Given the description of an element on the screen output the (x, y) to click on. 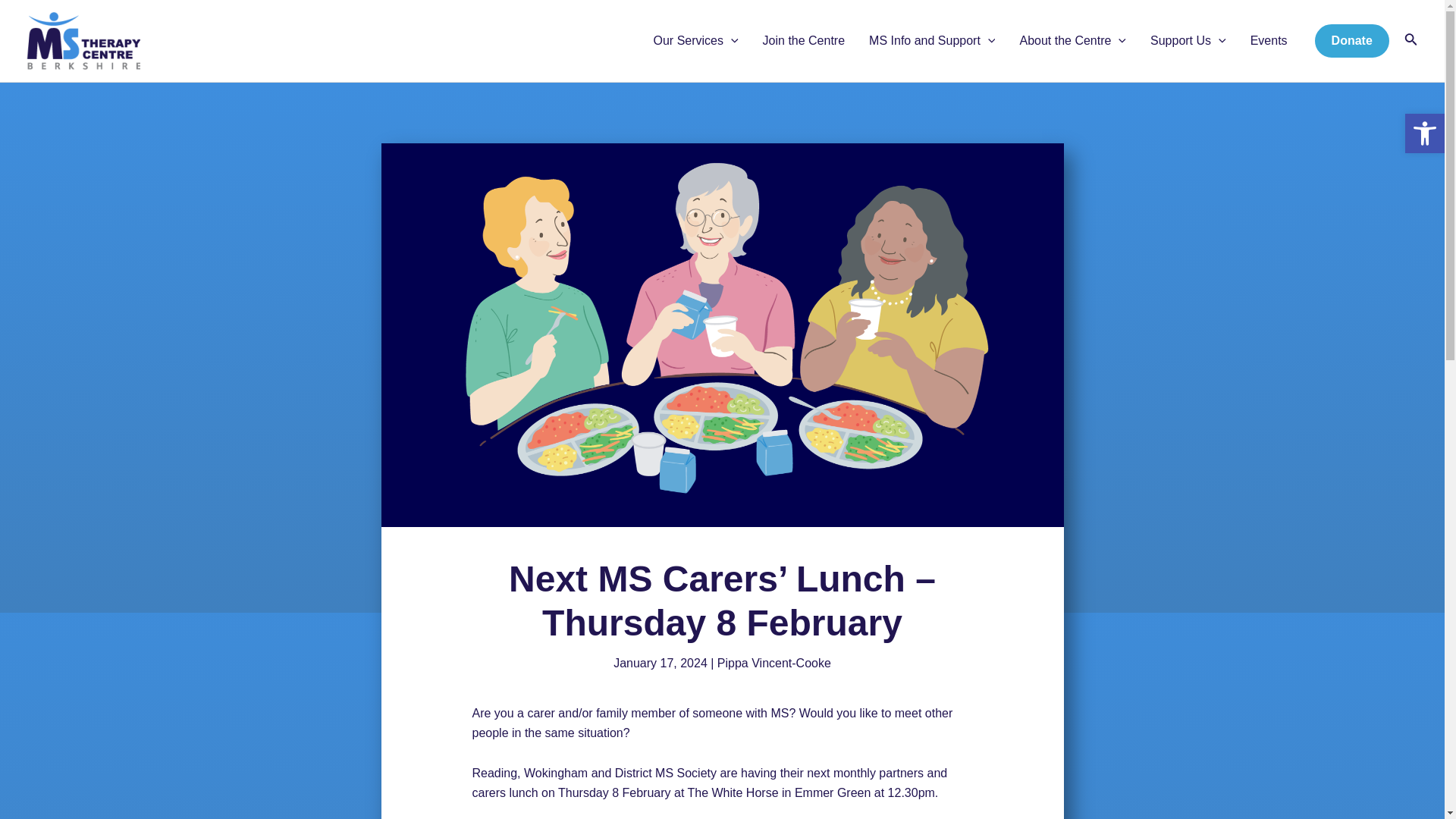
Accessibility Tools (1424, 133)
Our Services (696, 40)
Accessibility Tools (1424, 133)
MS Info and Support (1424, 133)
Join the Centre (932, 40)
About the Centre (804, 40)
